Given the description of an element on the screen output the (x, y) to click on. 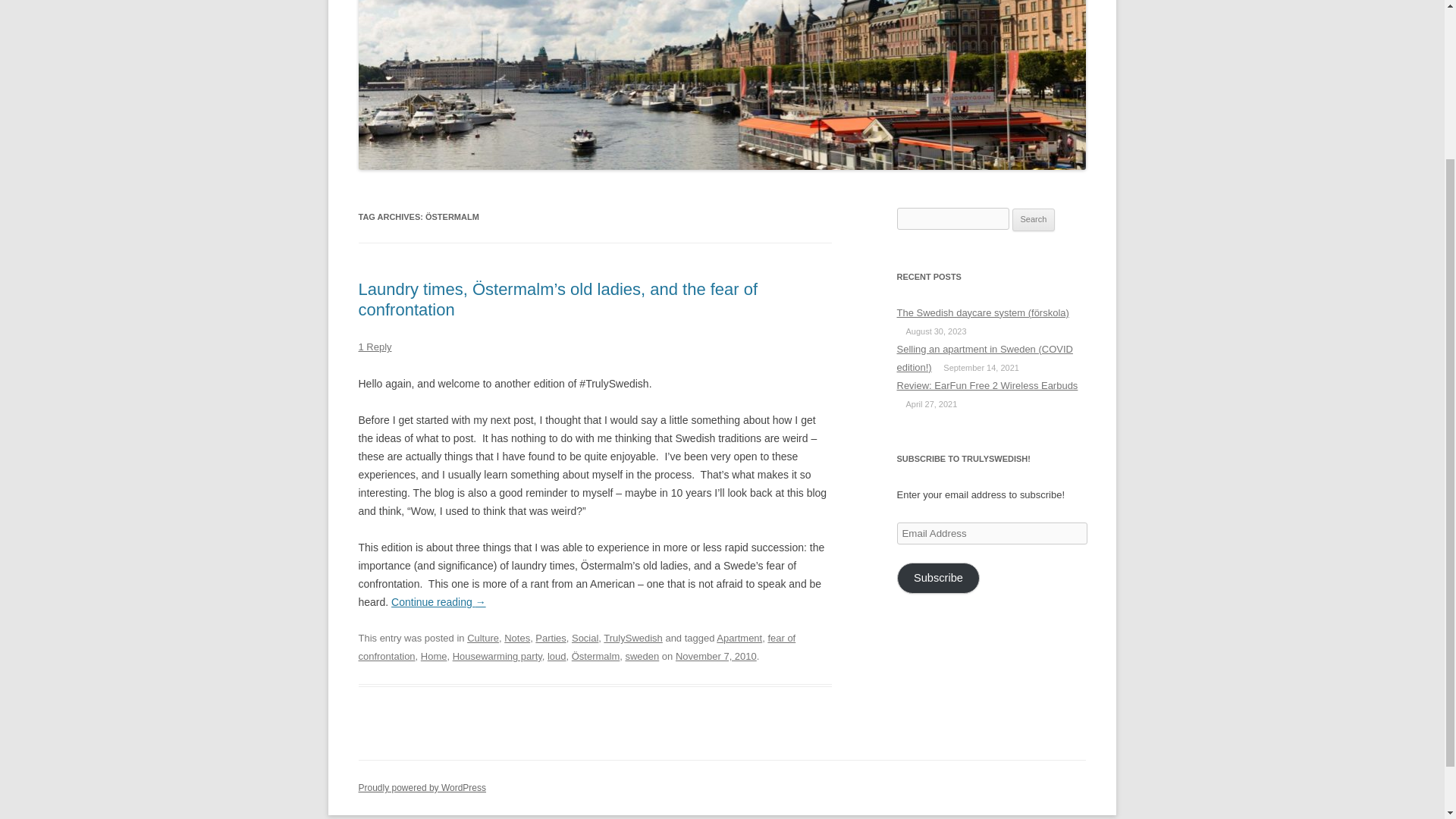
sweden (641, 655)
loud (556, 655)
Notes (516, 637)
5:33 pm (716, 655)
Search (1033, 219)
November 7, 2010 (716, 655)
TrulySwedish (633, 637)
Subscribe (937, 578)
Housewarming party (496, 655)
Apartment (738, 637)
Home (433, 655)
Social (585, 637)
Semantic Personal Publishing Platform (422, 787)
fear of confrontation (576, 646)
Search (1033, 219)
